Given the description of an element on the screen output the (x, y) to click on. 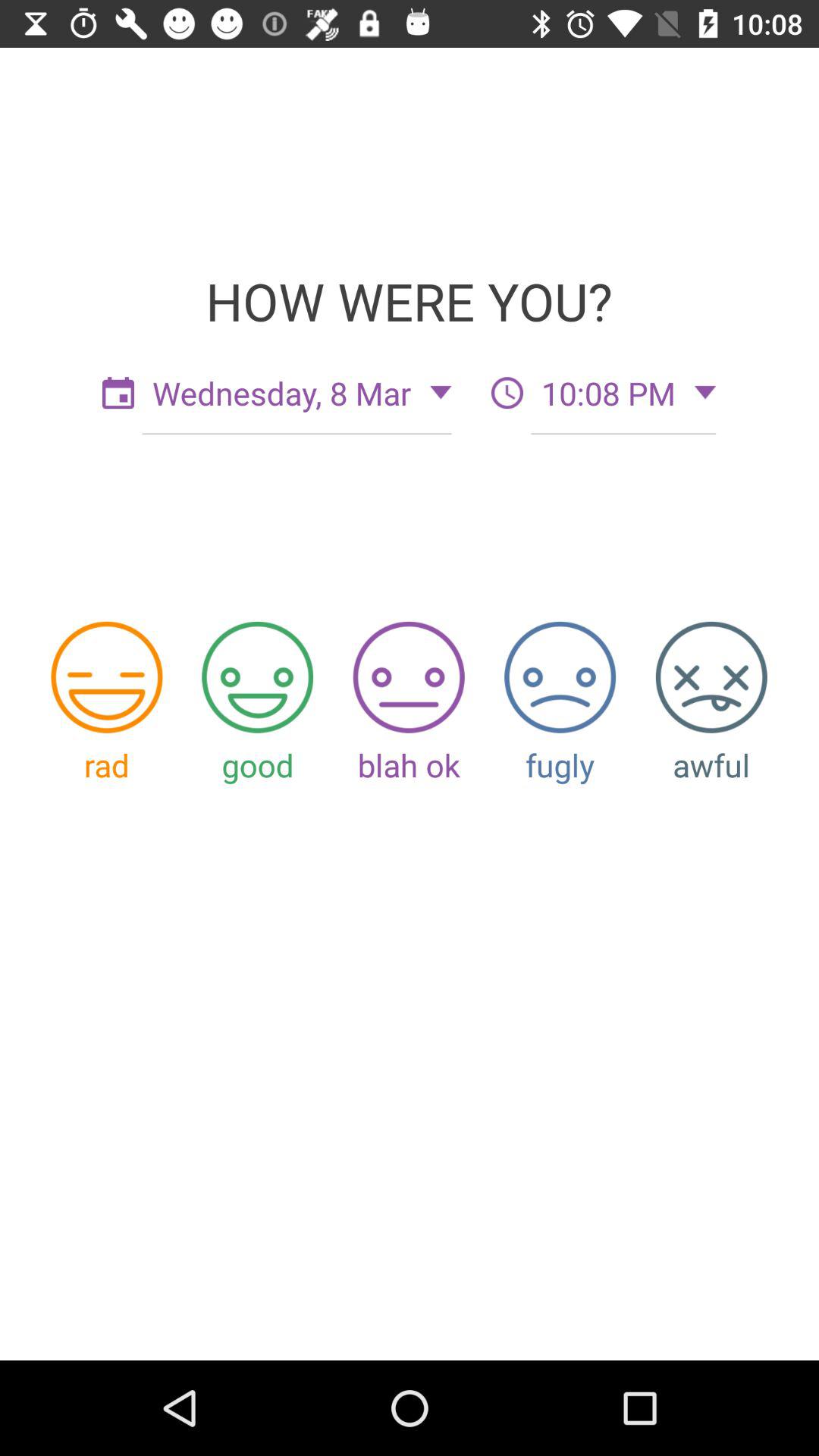
go to fugly (559, 677)
